Given the description of an element on the screen output the (x, y) to click on. 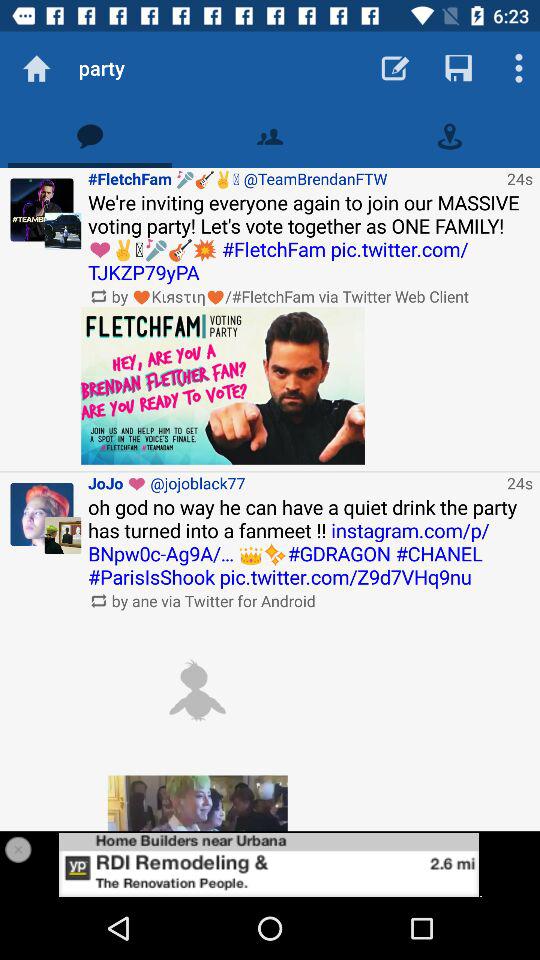
select image (197, 690)
